Given the description of an element on the screen output the (x, y) to click on. 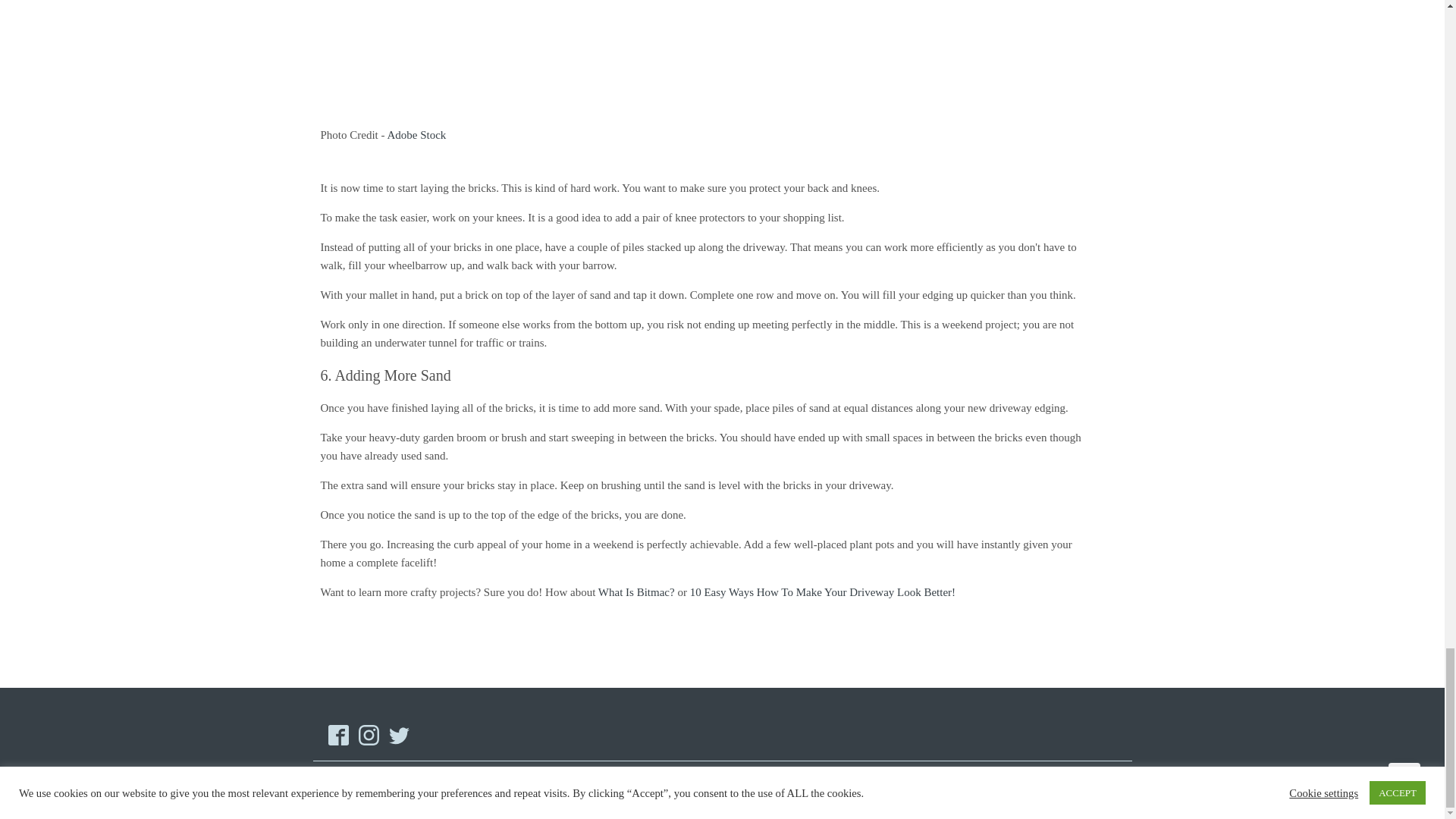
Adobe Stock (416, 134)
CRAFTDAILY (411, 790)
Privacy-Policy (961, 789)
What Is Bitmac? (636, 592)
10 Easy Ways How To Make Your Driveway Look Better! (822, 592)
